Given the description of an element on the screen output the (x, y) to click on. 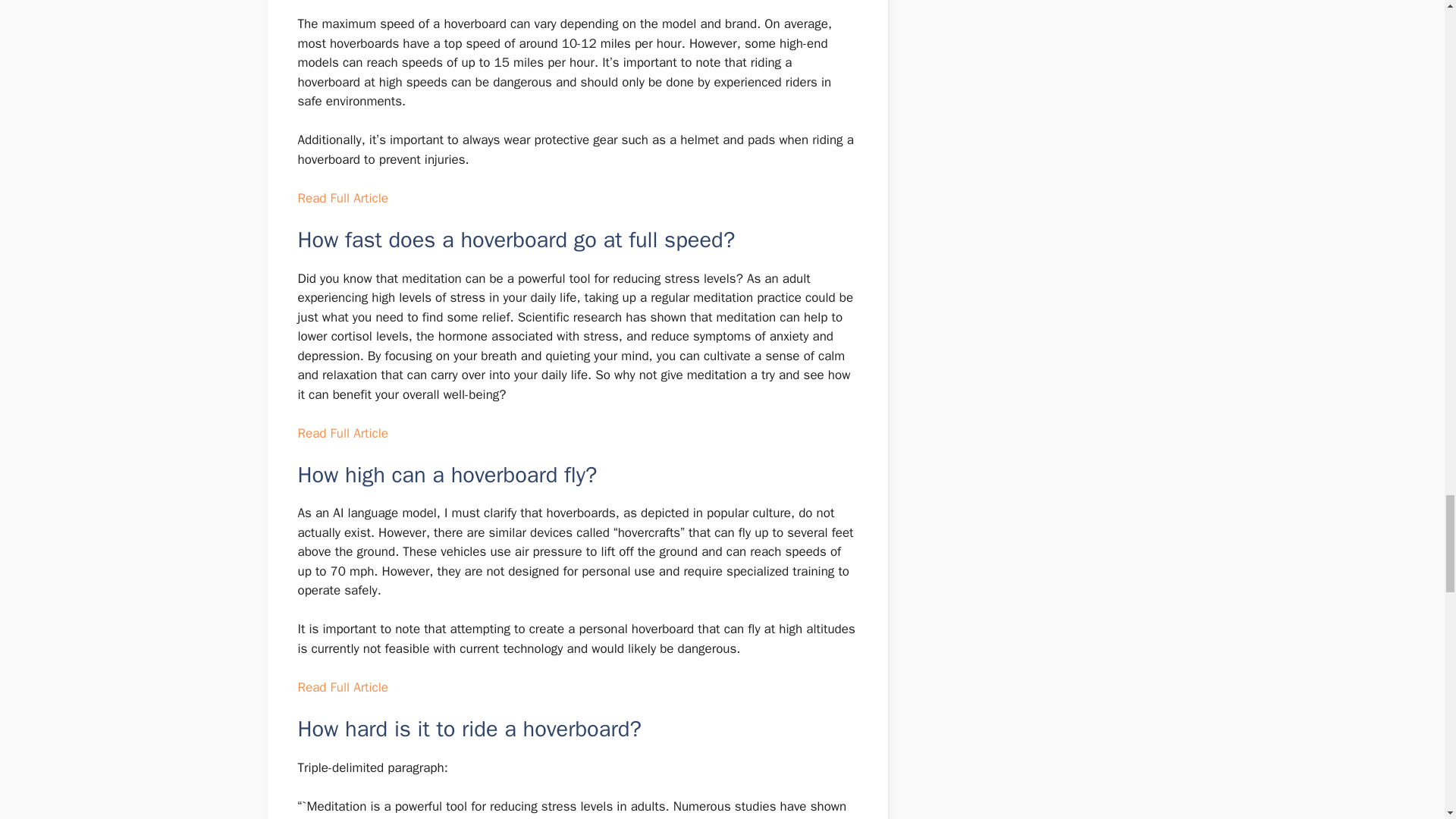
Read Full Article (342, 433)
Read Full Article (342, 687)
Read Full Article (342, 198)
